Given the description of an element on the screen output the (x, y) to click on. 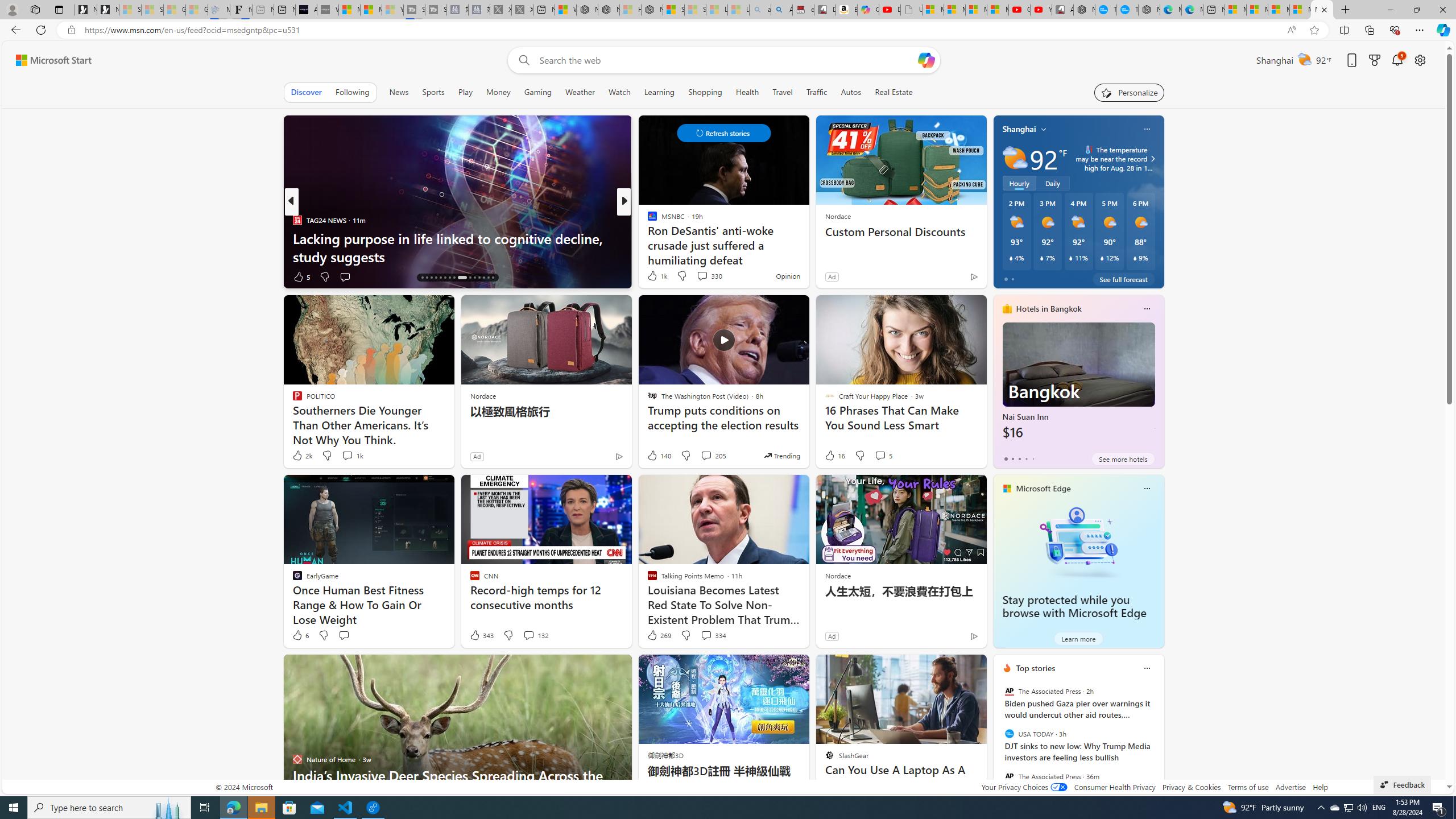
Comments turned off for this story (695, 276)
See more hotels (1123, 459)
181 Like (654, 276)
Consumer Health Privacy (1115, 786)
Top stories (1035, 668)
View comments 33 Comment (698, 276)
View comments 132 Comment (528, 635)
The most popular Google 'how to' searches (1127, 9)
tab-4 (1032, 458)
